Given the description of an element on the screen output the (x, y) to click on. 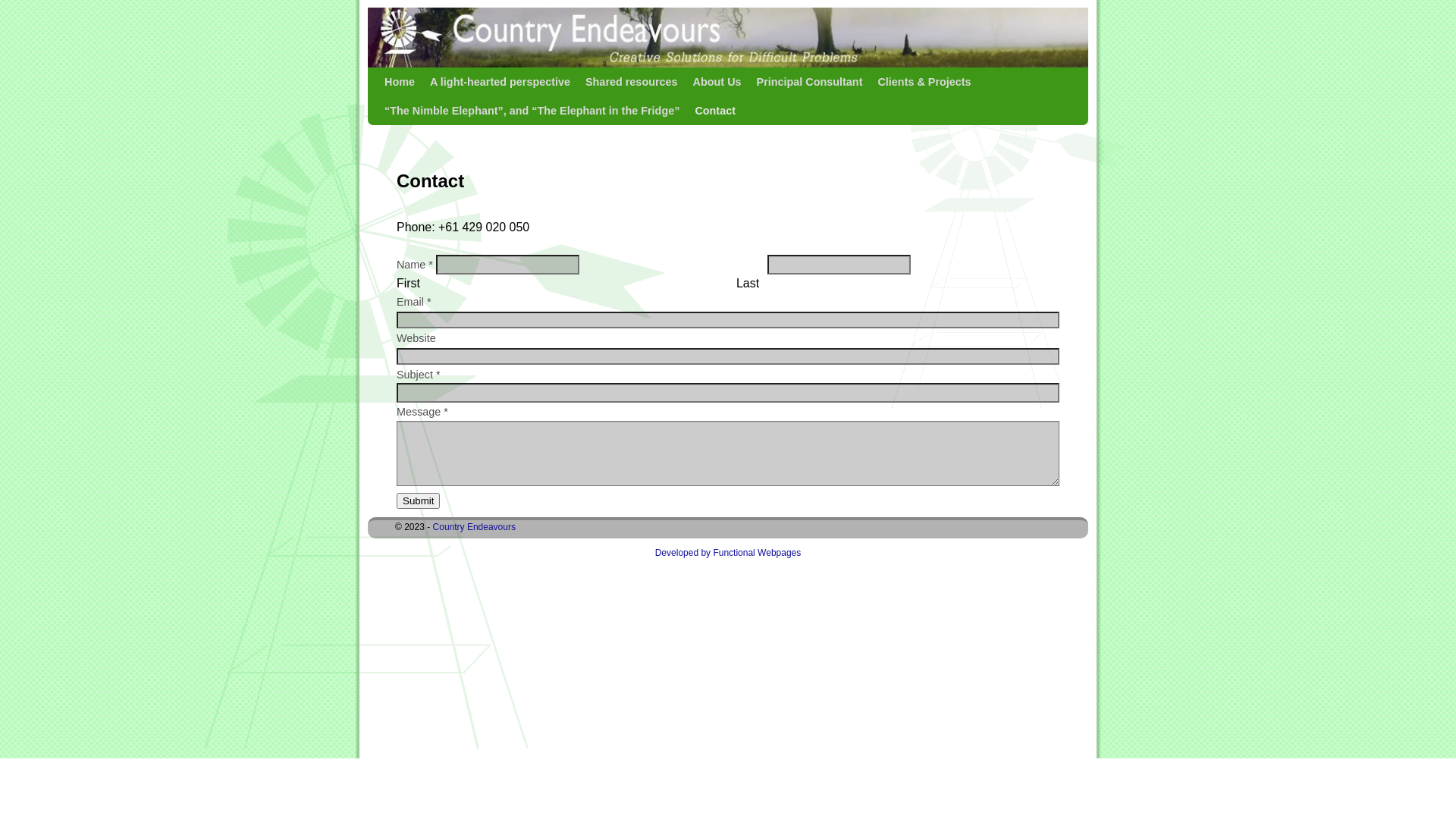
Principal Consultant Element type: text (809, 81)
Developed by Functional Webpages Element type: text (728, 552)
About Us Element type: text (717, 81)
Shared resources Element type: text (631, 81)
Country Endeavours Element type: text (474, 526)
Home Element type: text (399, 81)
A light-hearted perspective Element type: text (499, 81)
Submit Element type: text (417, 500)
Skip to secondary content Element type: text (460, 81)
Skip to primary content Element type: text (452, 81)
Clients & Projects Element type: text (923, 81)
Contact Element type: text (715, 110)
